Given the description of an element on the screen output the (x, y) to click on. 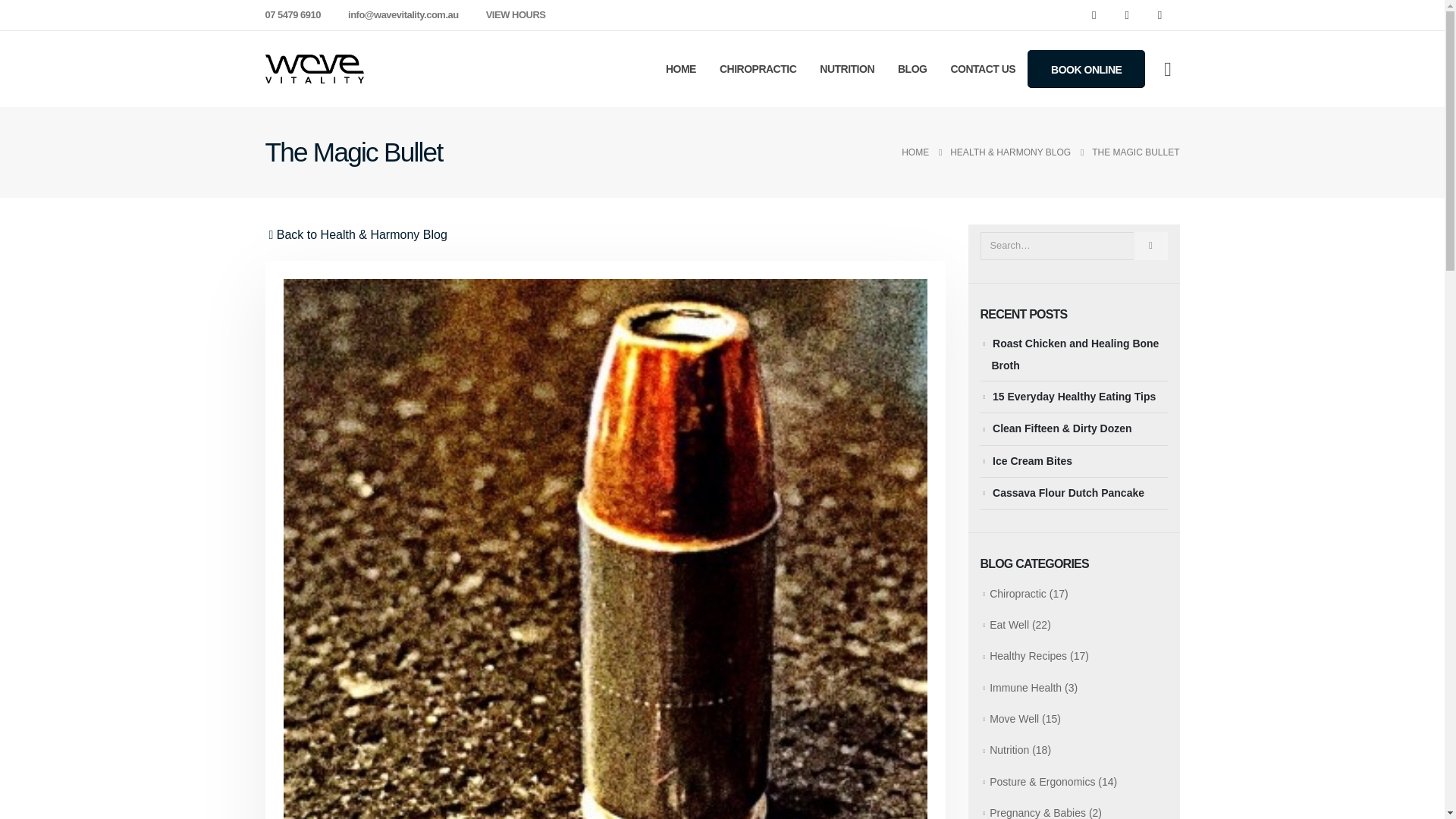
Instagram (1159, 14)
Go to Home Page (914, 151)
NUTRITION (846, 69)
Youtube (1126, 14)
BOOK ONLINE (1085, 78)
07 5479 6910 (296, 15)
VIEW HOURS (516, 15)
CHIROPRACTIC (757, 69)
CONTACT US (982, 69)
Facebook (1094, 14)
